Given the description of an element on the screen output the (x, y) to click on. 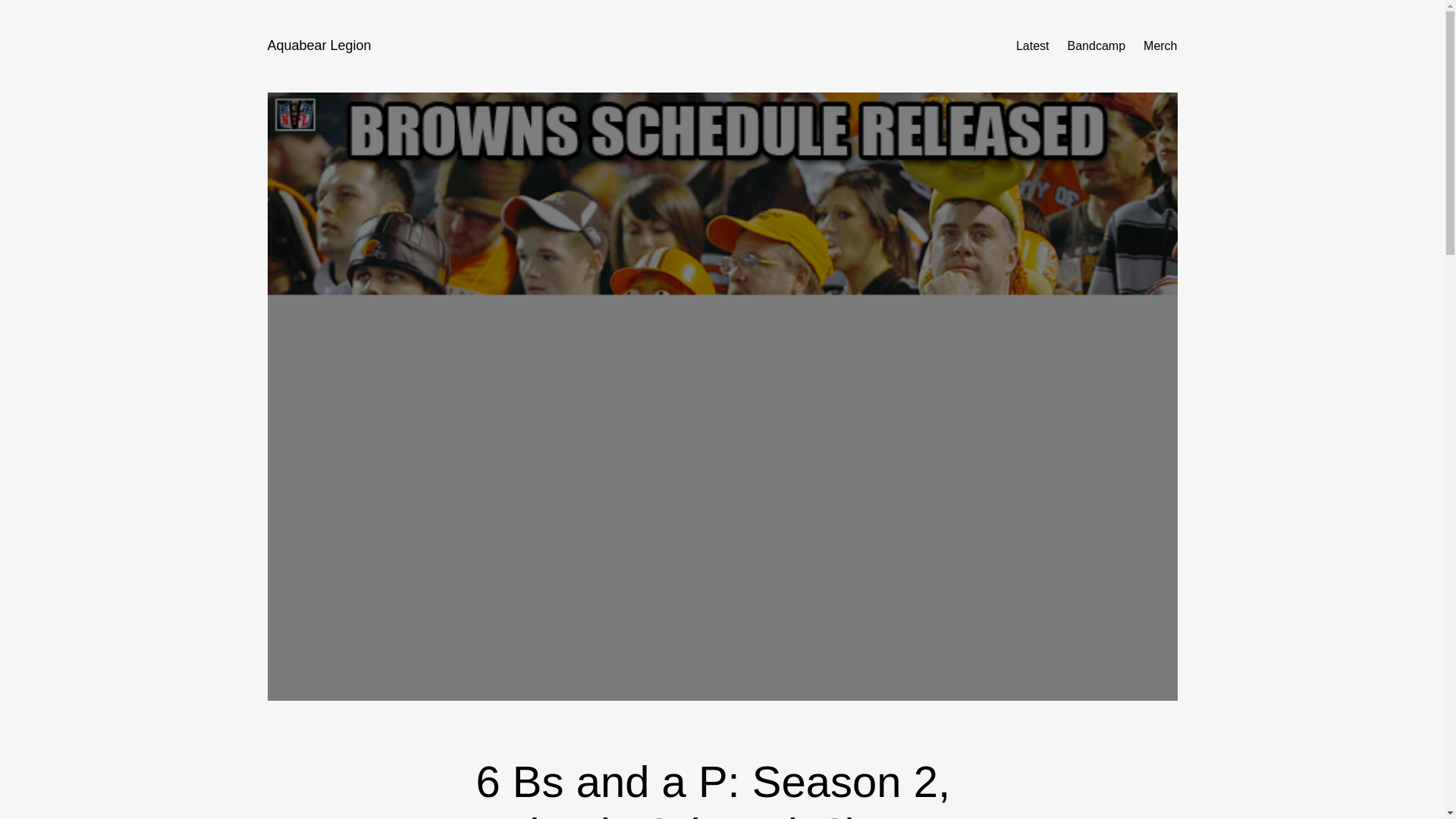
Aquabear Legion (318, 45)
Latest (1032, 46)
Merch (1159, 46)
Bandcamp (1096, 46)
